Given the description of an element on the screen output the (x, y) to click on. 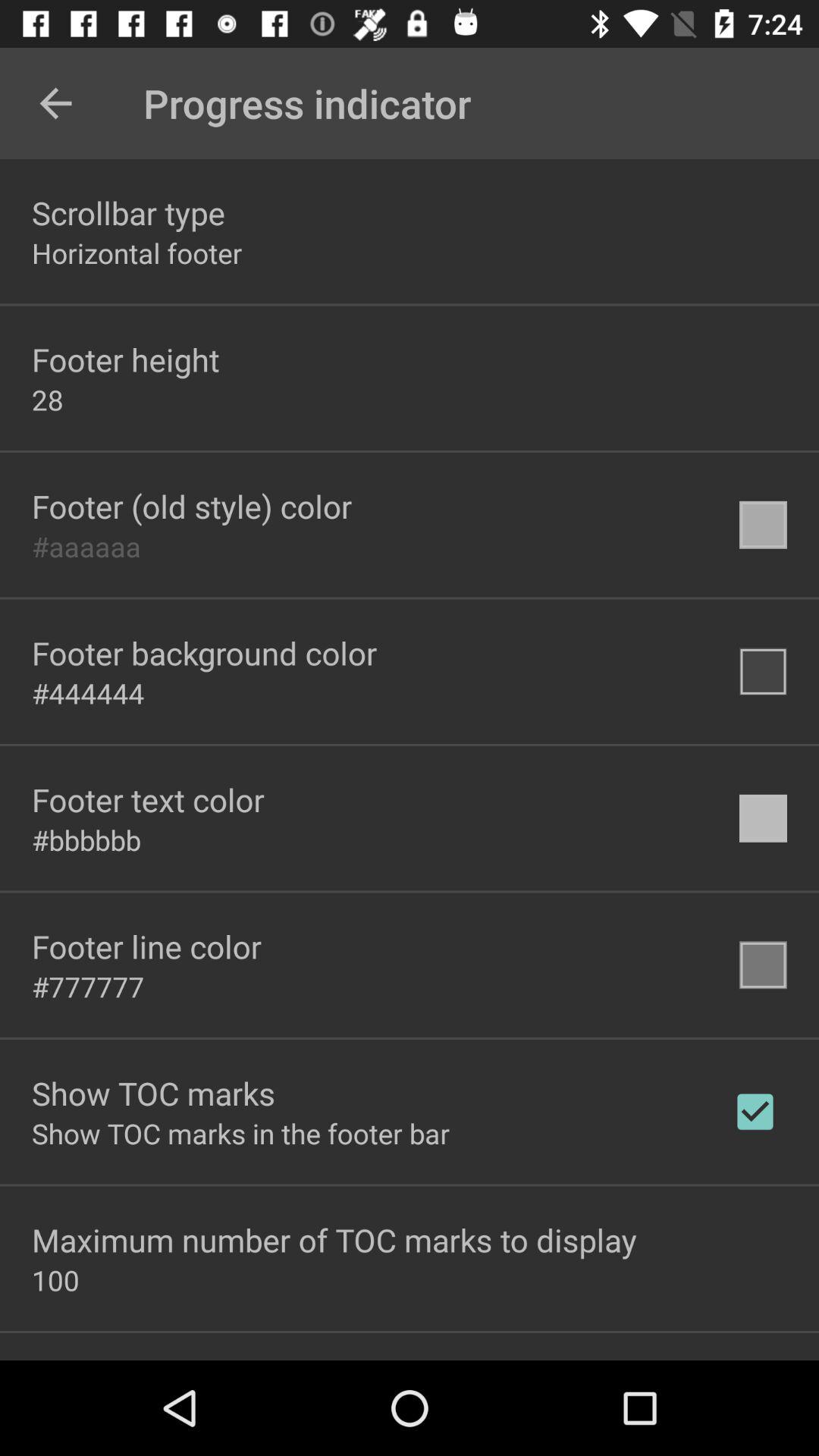
tap the #aaaaaa (86, 546)
